Given the description of an element on the screen output the (x, y) to click on. 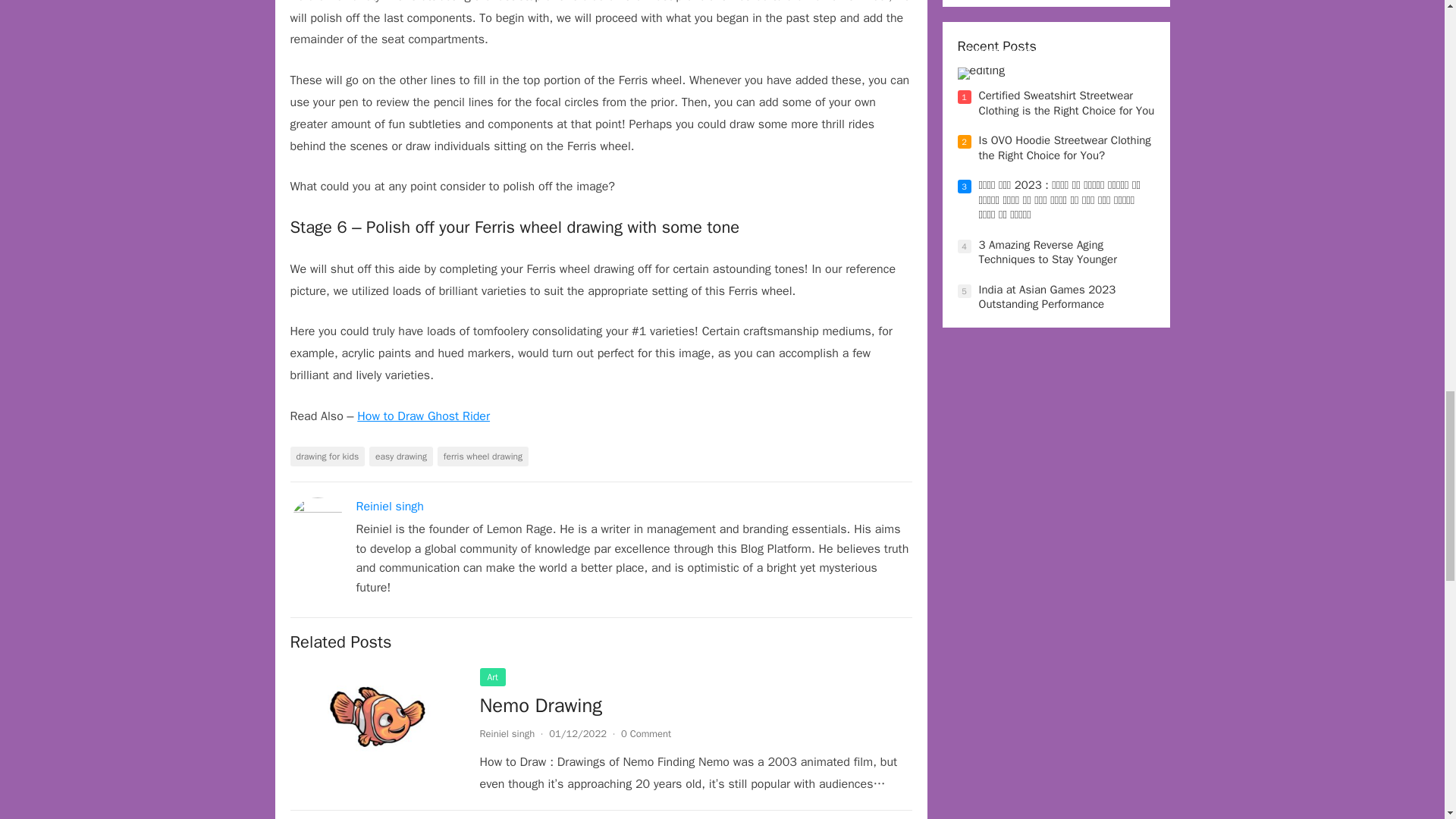
Nemo Drawing (376, 716)
Posts by Reiniel singh (506, 733)
